Given the description of an element on the screen output the (x, y) to click on. 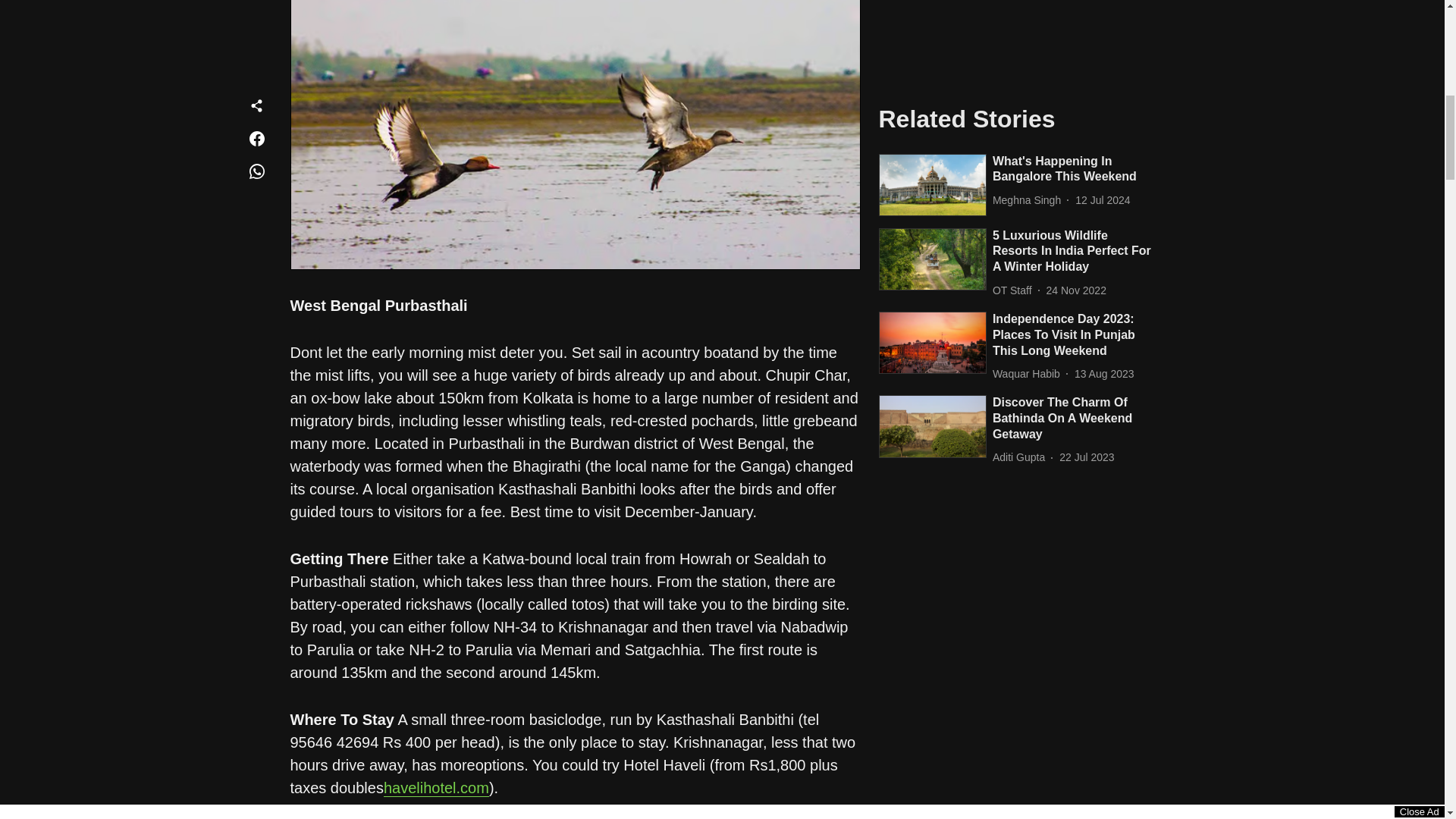
havelihotel.com (436, 787)
2023-07-22 13:50 (1086, 53)
